Given the description of an element on the screen output the (x, y) to click on. 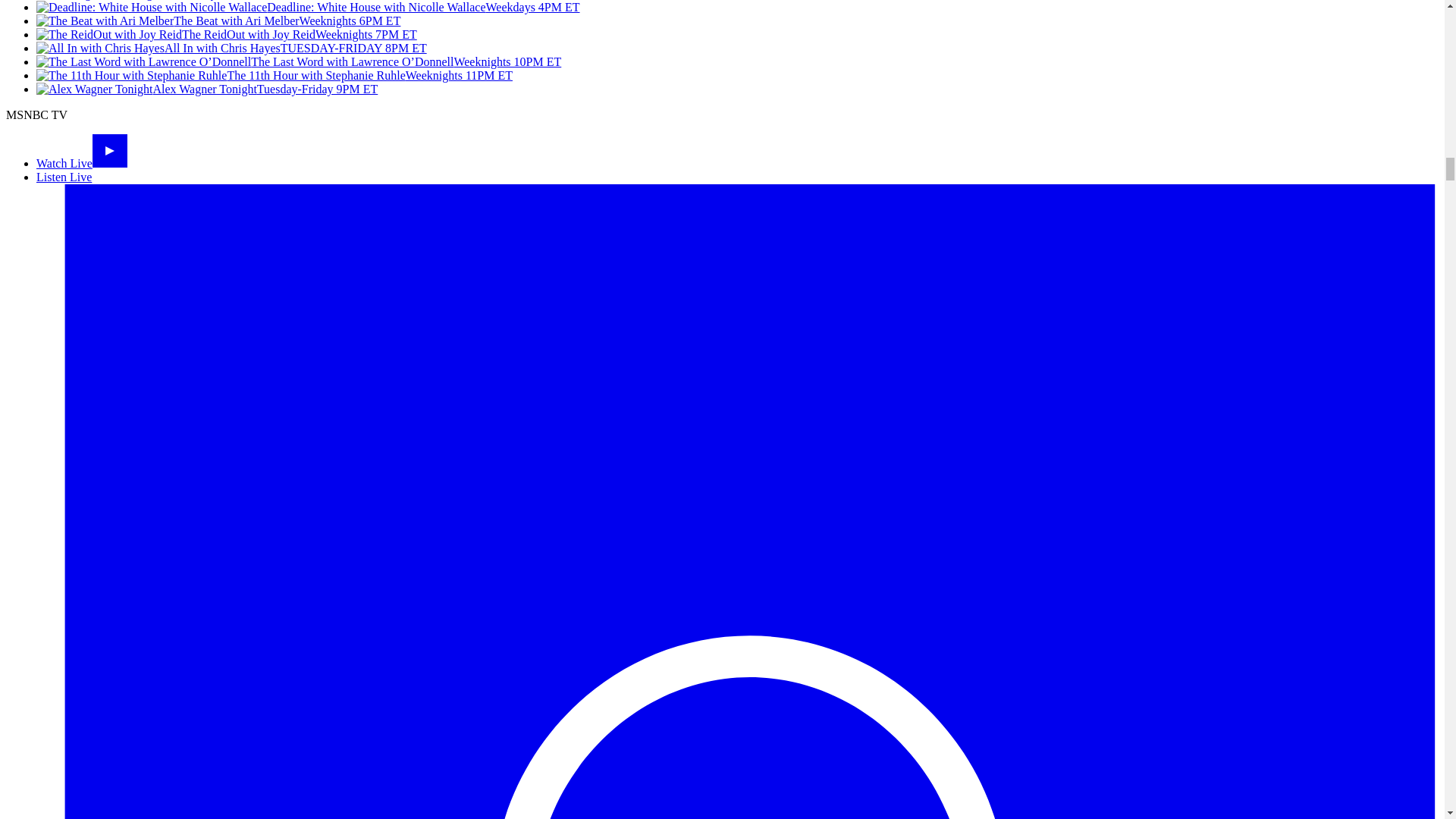
Deadline: White House with Nicolle WallaceWeekdays 4PM ET (307, 6)
The ReidOut with Joy ReidWeeknights 7PM ET (226, 33)
The Beat with Ari MelberWeeknights 6PM ET (218, 20)
Alex Wagner TonightTuesday-Friday 9PM ET (206, 88)
All In with Chris HayesTUESDAY-FRIDAY 8PM ET (231, 47)
The 11th Hour with Stephanie RuhleWeeknights 11PM ET (274, 74)
Watch Live (82, 163)
